Given the description of an element on the screen output the (x, y) to click on. 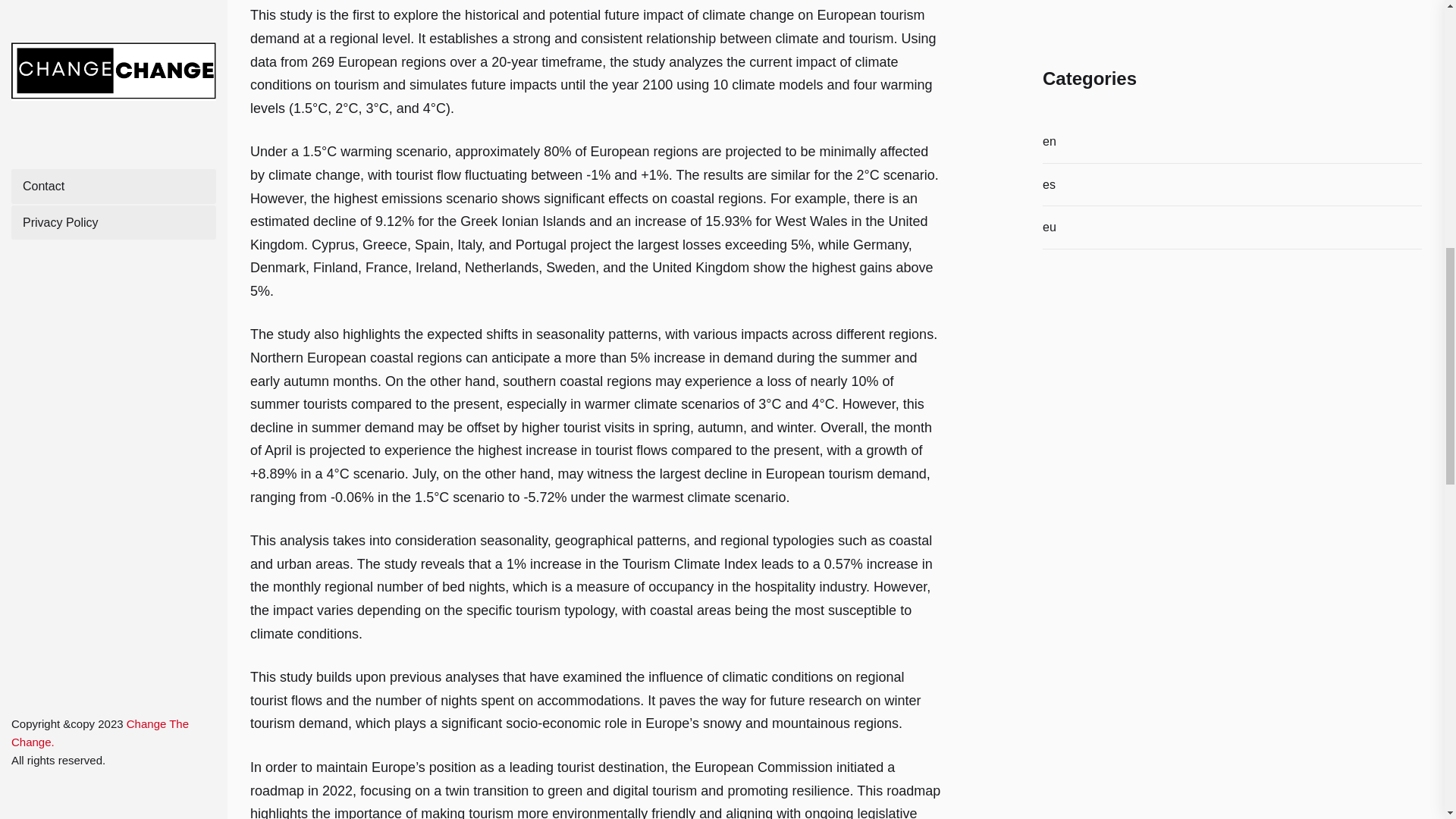
es (1051, 184)
en (1051, 141)
eu (1051, 227)
